Given the description of an element on the screen output the (x, y) to click on. 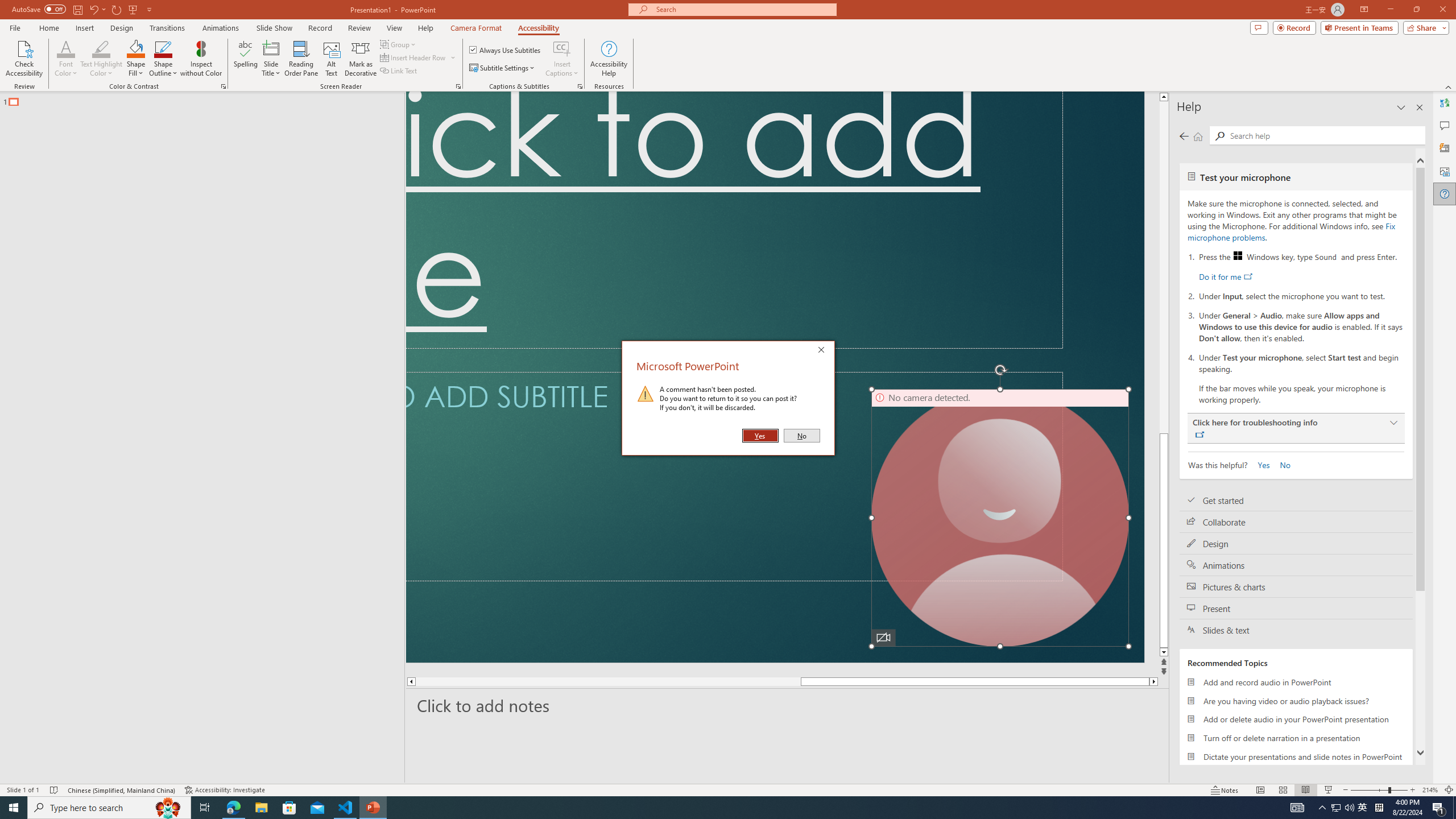
Add and record audio in PowerPoint (1295, 682)
Mark as Decorative (360, 58)
Dictate your presentations and slide notes in PowerPoint (1295, 756)
